Given the description of an element on the screen output the (x, y) to click on. 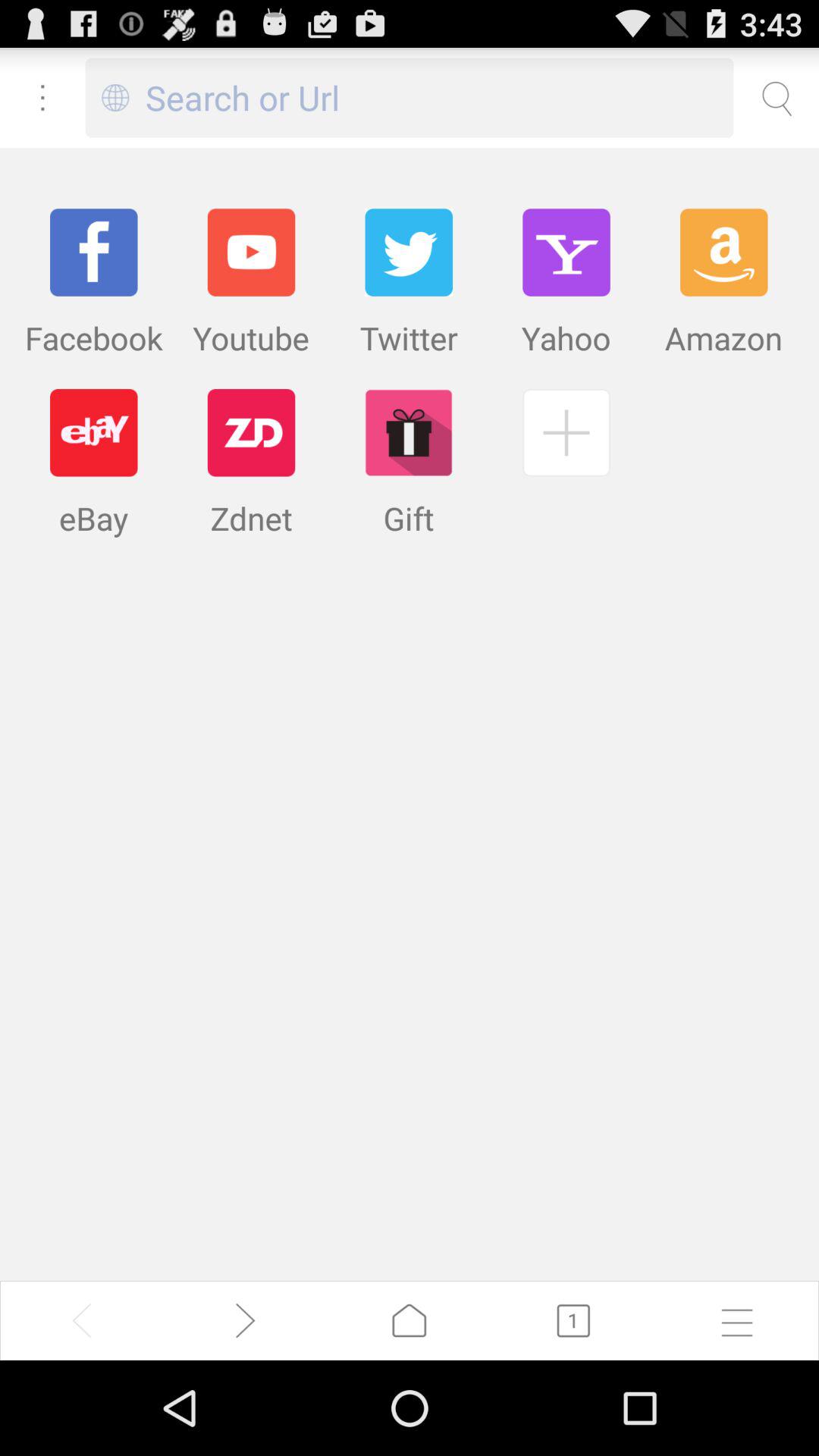
open the icon next to search or url (115, 97)
